Given the description of an element on the screen output the (x, y) to click on. 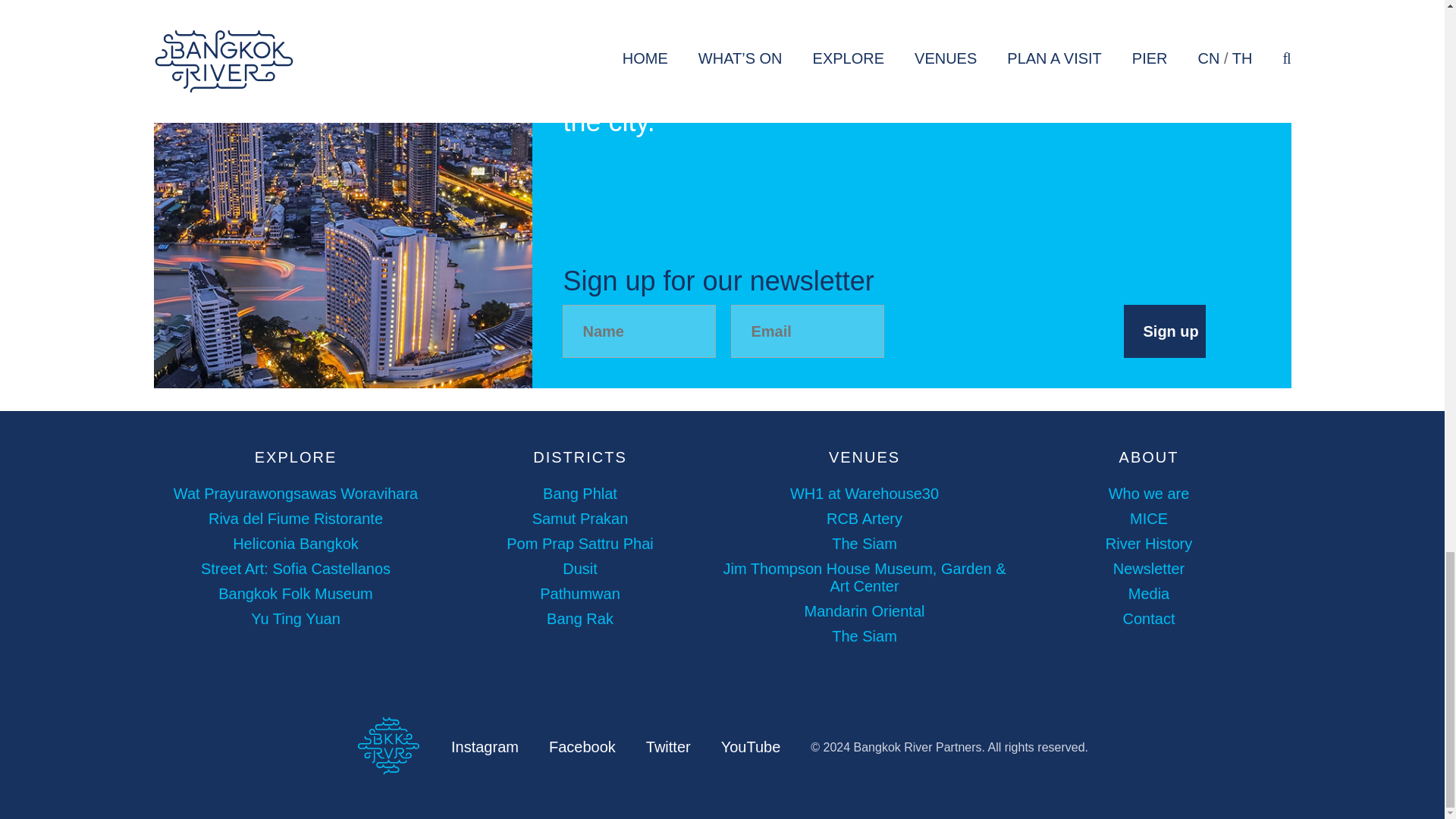
Sign up (1164, 330)
